Given the description of an element on the screen output the (x, y) to click on. 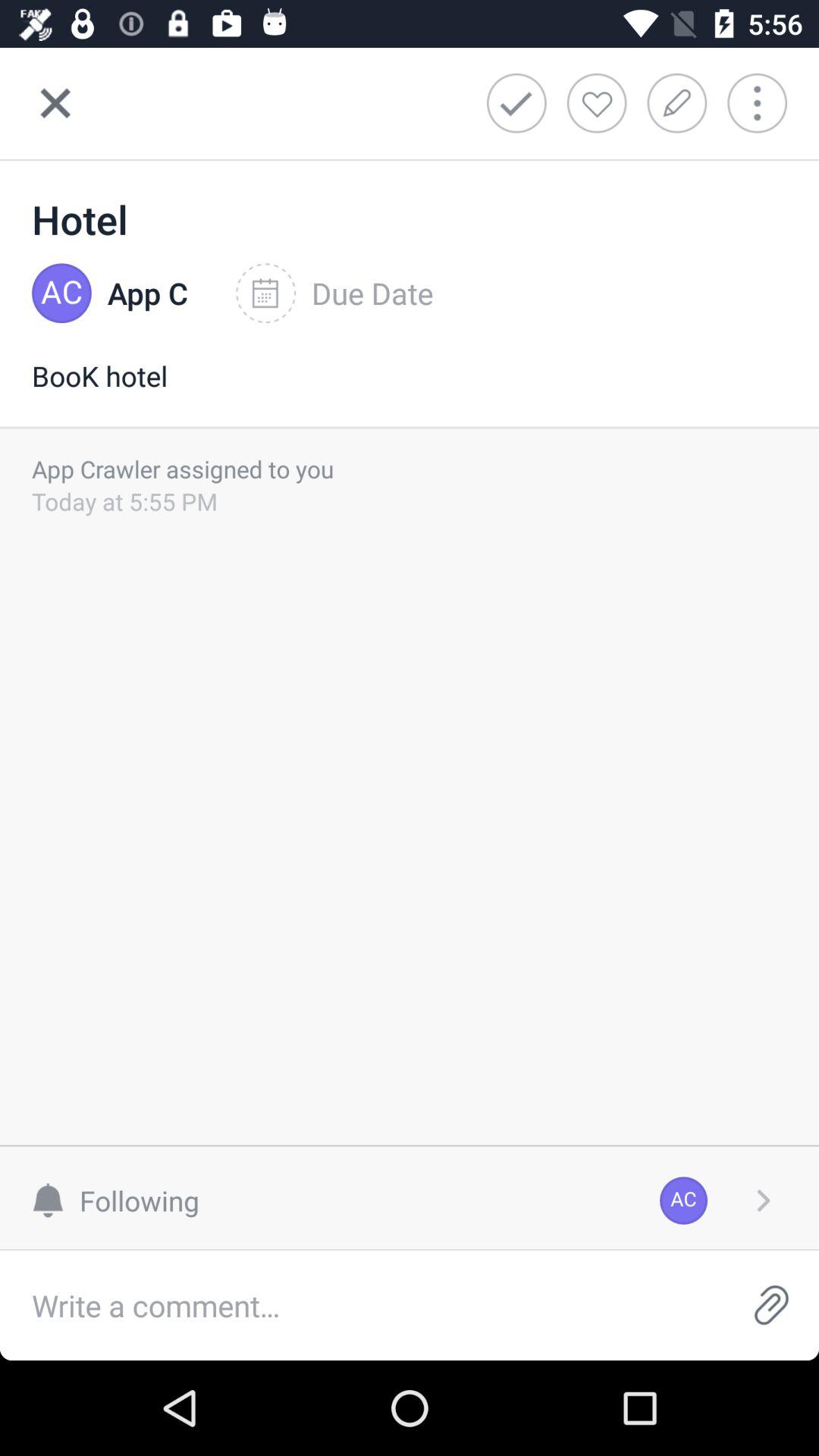
swipe until due date icon (334, 293)
